Given the description of an element on the screen output the (x, y) to click on. 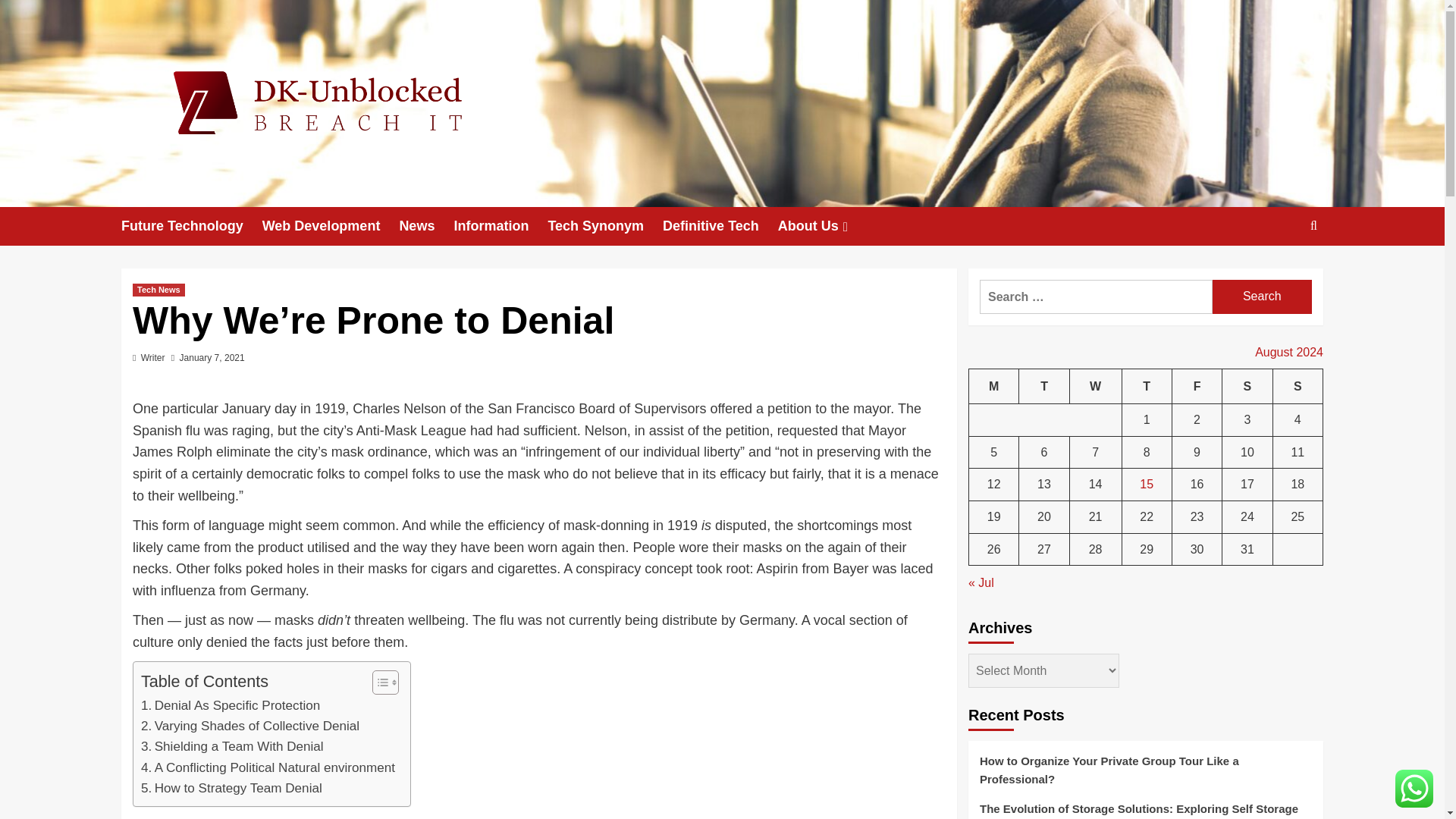
Friday (1196, 386)
A Conflicting Political Natural environment (267, 767)
How to Strategy Team Denial (231, 788)
Web Development (330, 226)
Monday (994, 386)
How to Strategy Team Denial (231, 788)
Saturday (1247, 386)
Tech News (158, 289)
Wednesday (1094, 386)
Denial As Specific Protection (230, 705)
